Given the description of an element on the screen output the (x, y) to click on. 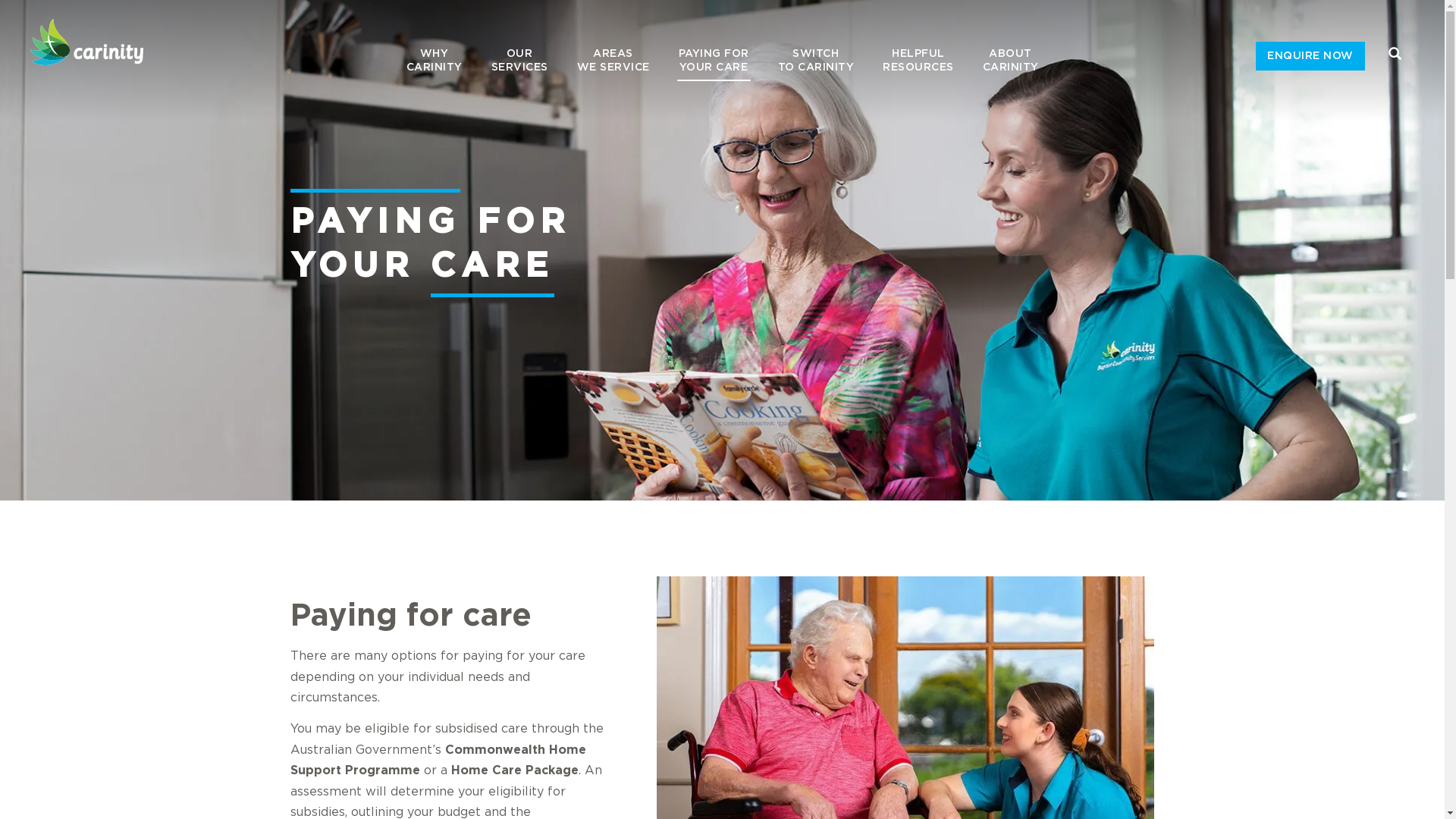
ENQUIRE NOW Element type: text (1310, 55)
OUR
SERVICES Element type: text (518, 60)
SWITCH
TO CARINITY Element type: text (815, 60)
ABOUT
CARINITY Element type: text (1010, 60)
AREAS
WE SERVICE Element type: text (613, 60)
PAYING FOR
YOUR CARE Element type: text (713, 60)
HELPFUL
RESOURCES Element type: text (917, 60)
WHY
CARINITY Element type: text (433, 60)
